Given the description of an element on the screen output the (x, y) to click on. 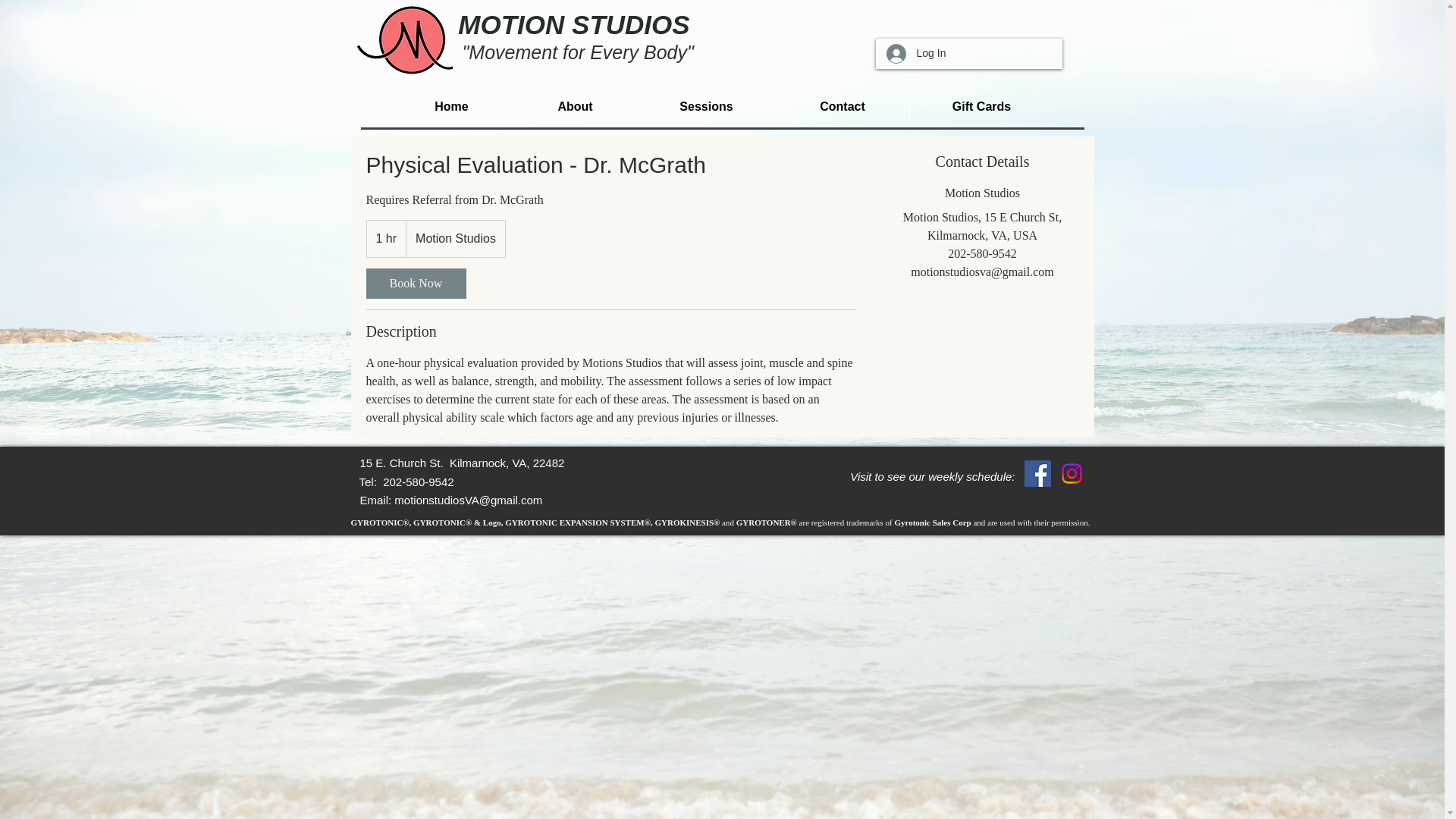
MOTION STUDIOS (573, 24)
Home (451, 106)
Log In (915, 53)
About (574, 106)
Book Now (415, 283)
Gift Cards (980, 106)
Contact (841, 106)
